Given the description of an element on the screen output the (x, y) to click on. 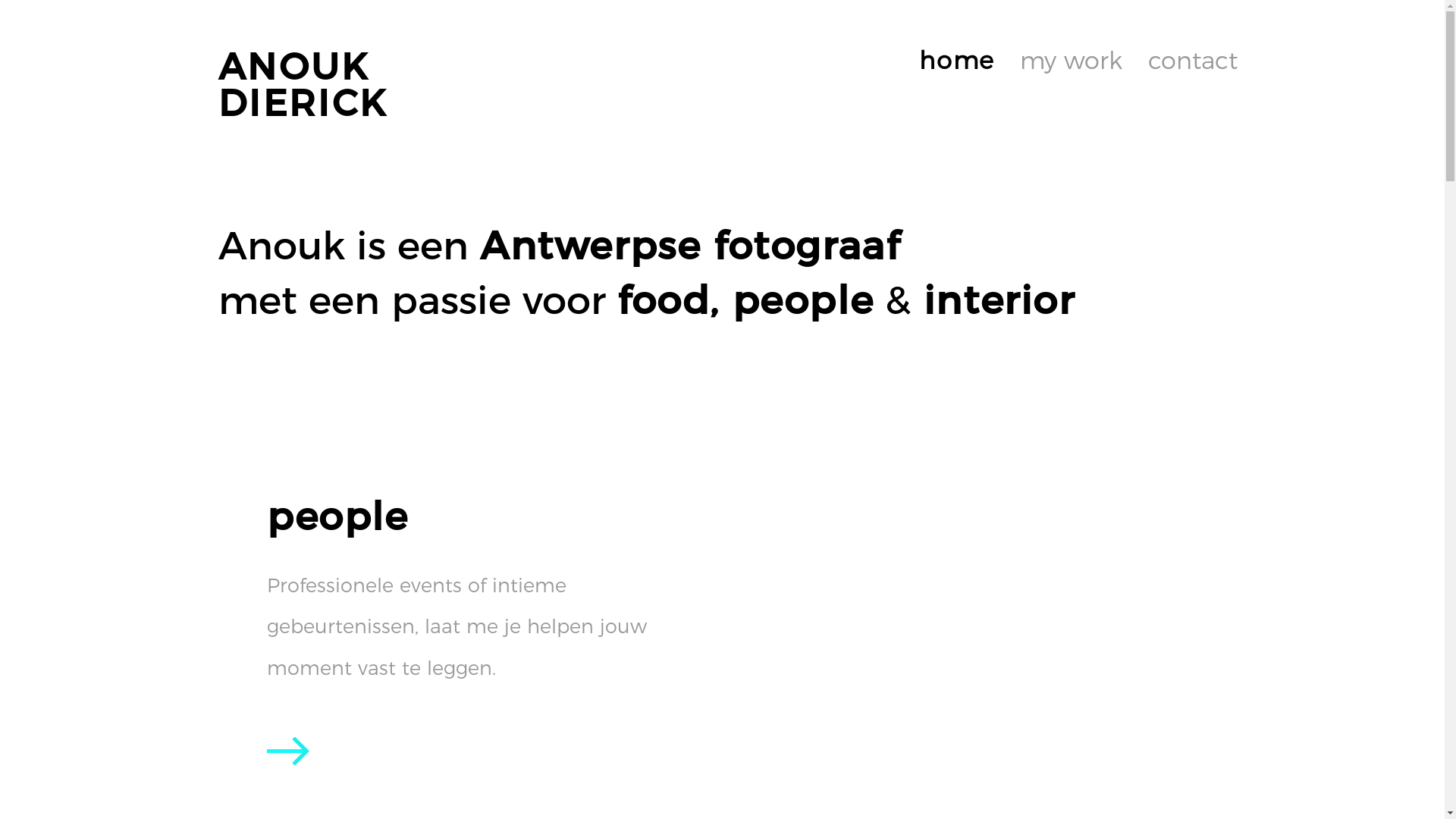
home Element type: text (956, 84)
my work Element type: text (1070, 84)
contact Element type: text (1192, 84)
